Given the description of an element on the screen output the (x, y) to click on. 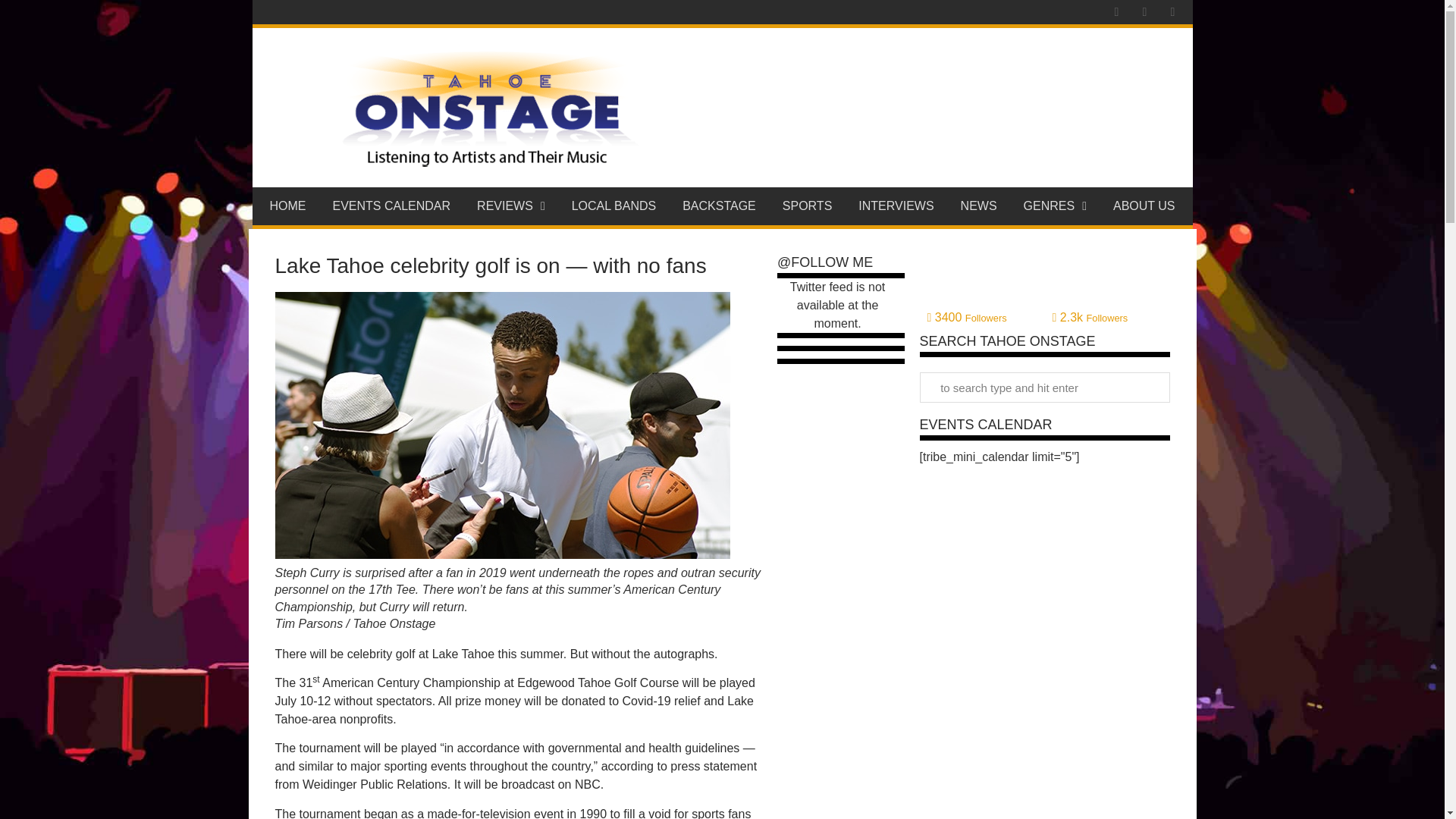
NEWS (978, 206)
SPORTS (806, 206)
HOME (287, 206)
INTERVIEWS (896, 206)
ABOUT US (1143, 206)
GENRES (1054, 206)
BACKSTAGE (719, 206)
REVIEWS (511, 206)
LOCAL BANDS (612, 206)
EVENTS CALENDAR (391, 206)
